Given the description of an element on the screen output the (x, y) to click on. 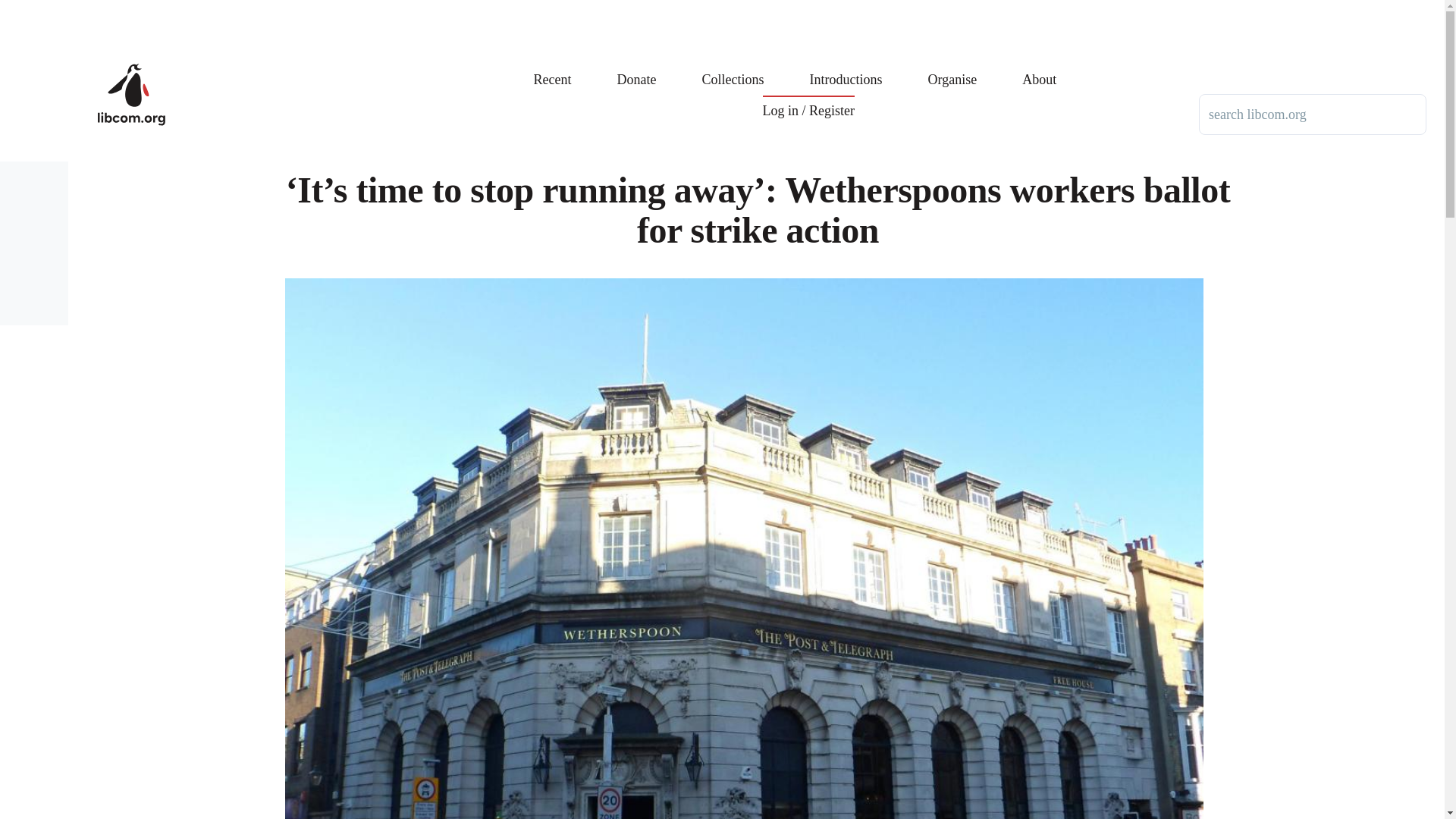
Collections (732, 68)
Introductions (845, 68)
Organise (952, 68)
Skip to main content (595, 6)
